Given the description of an element on the screen output the (x, y) to click on. 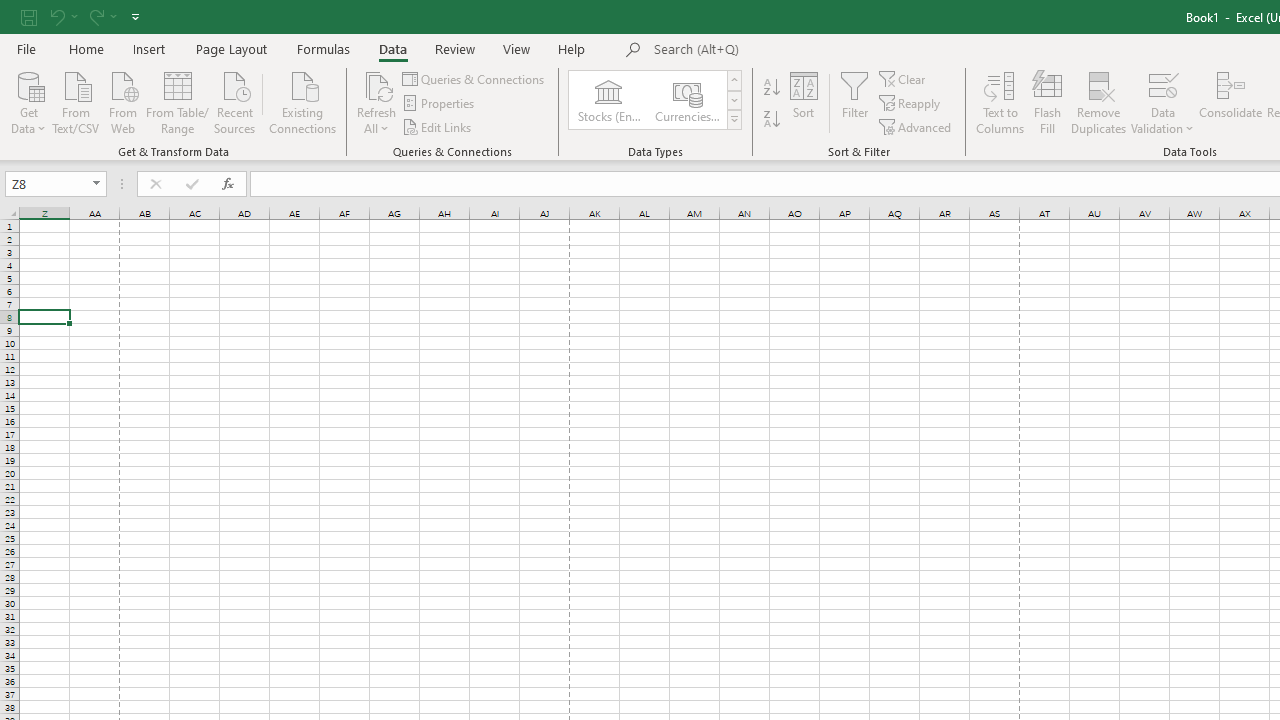
From Table/Range (177, 101)
From Web (122, 101)
Filter (854, 102)
Properties (440, 103)
Existing Connections (303, 101)
Edit Links (438, 126)
Sort A to Z (772, 87)
